Given the description of an element on the screen output the (x, y) to click on. 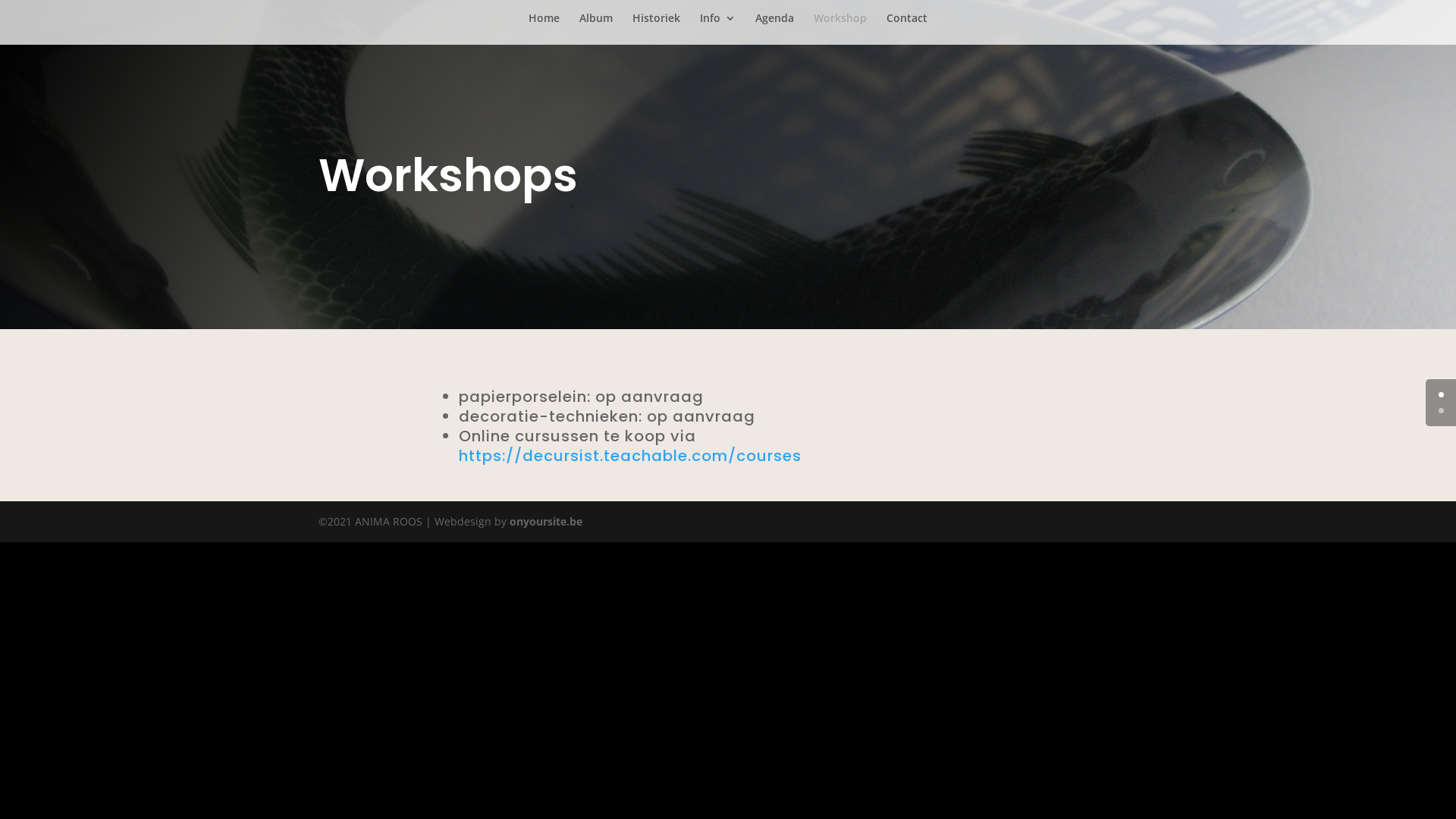
Album Element type: text (595, 28)
0 Element type: text (1440, 394)
Home Element type: text (543, 28)
onyoursite.be Element type: text (545, 521)
1 Element type: text (1440, 410)
Agenda Element type: text (774, 28)
Contact Element type: text (906, 28)
Info Element type: text (717, 28)
Workshop Element type: text (839, 28)
Historiek Element type: text (656, 28)
https://decursist.teachable.com/courses Element type: text (629, 455)
